Given the description of an element on the screen output the (x, y) to click on. 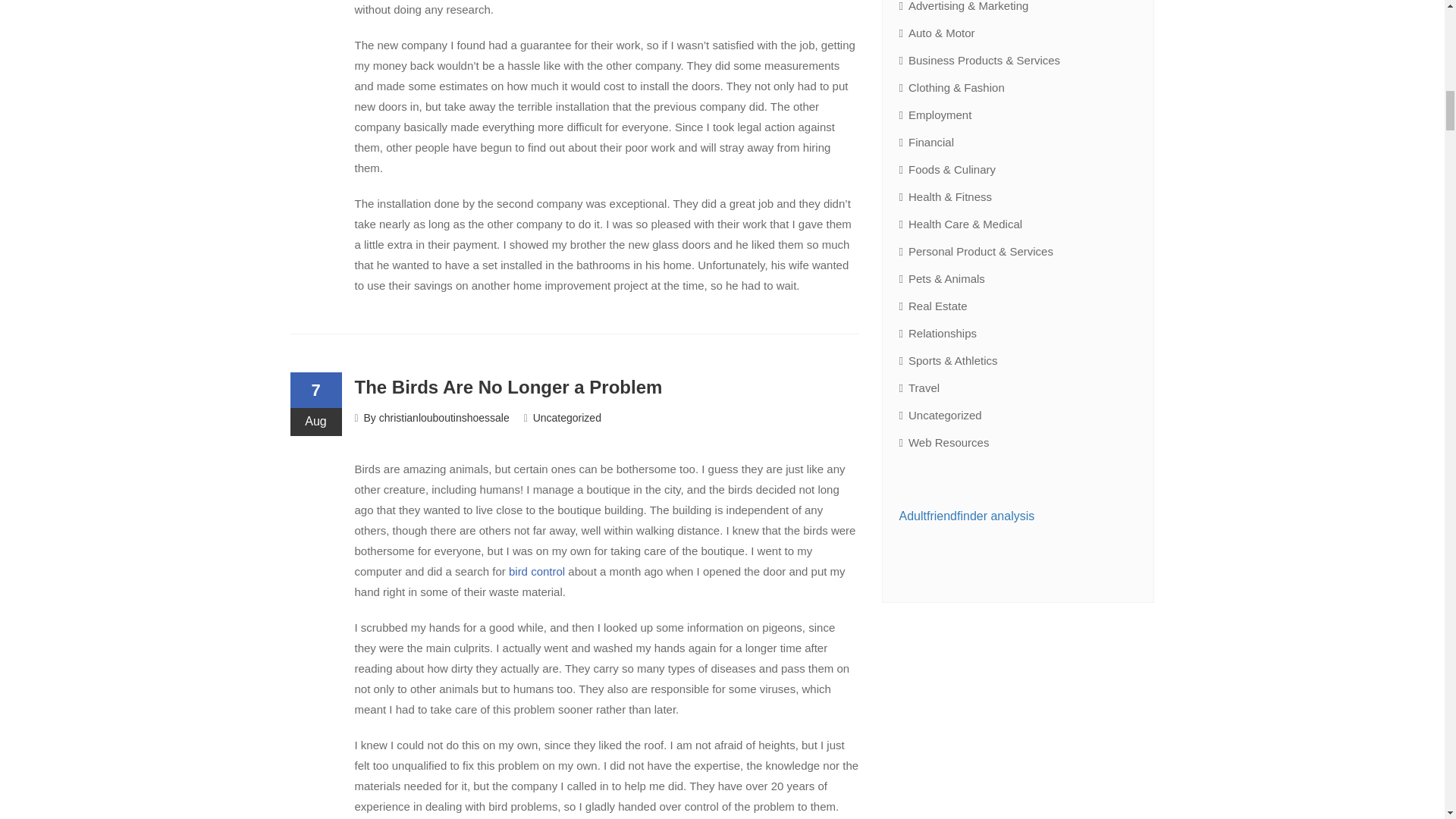
The Birds Are No Longer a Problem (508, 386)
bird control (536, 571)
Uncategorized (566, 417)
christianlouboutinshoessale (443, 417)
